Given the description of an element on the screen output the (x, y) to click on. 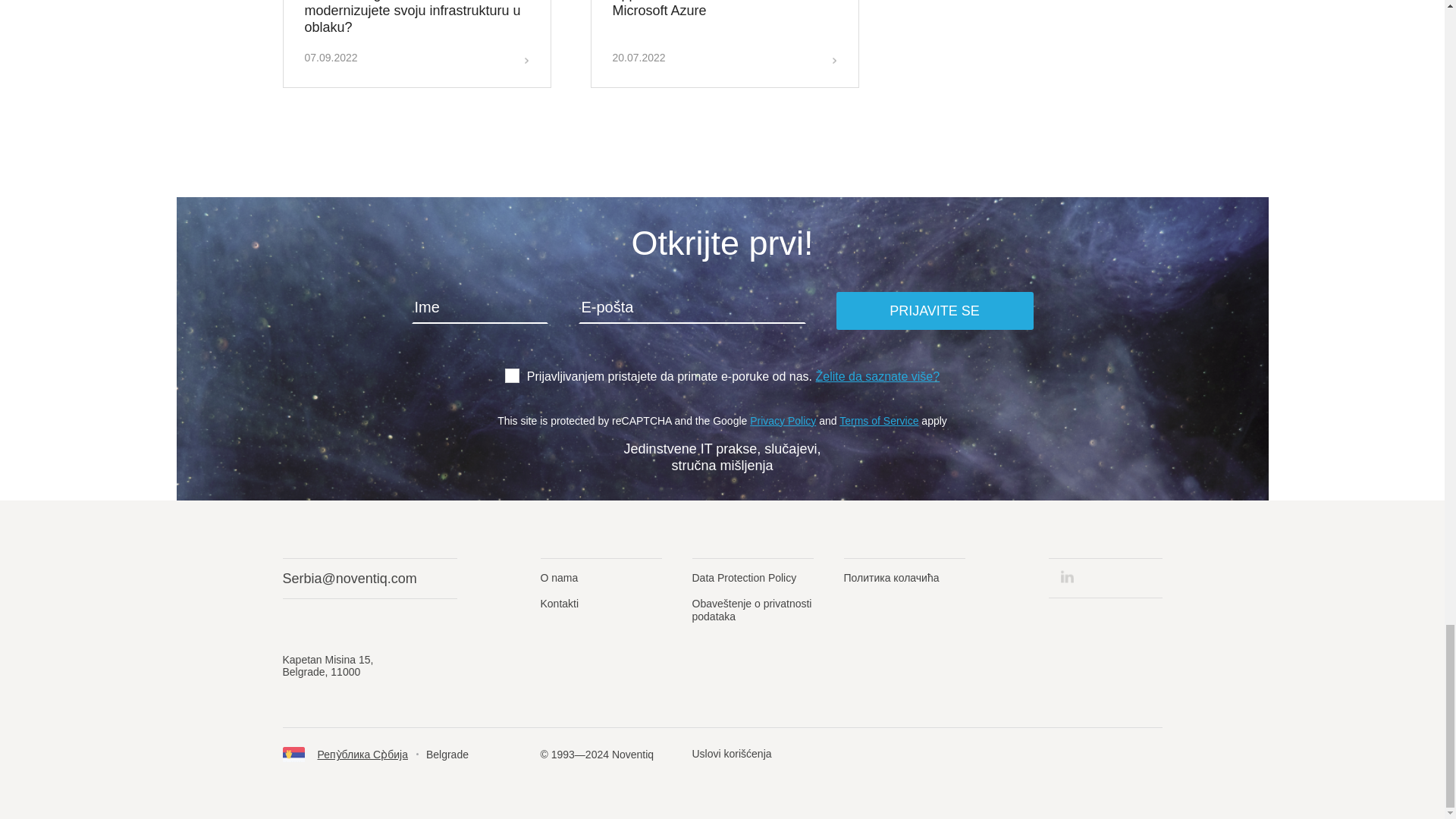
Prijavite se (933, 310)
